Given the description of an element on the screen output the (x, y) to click on. 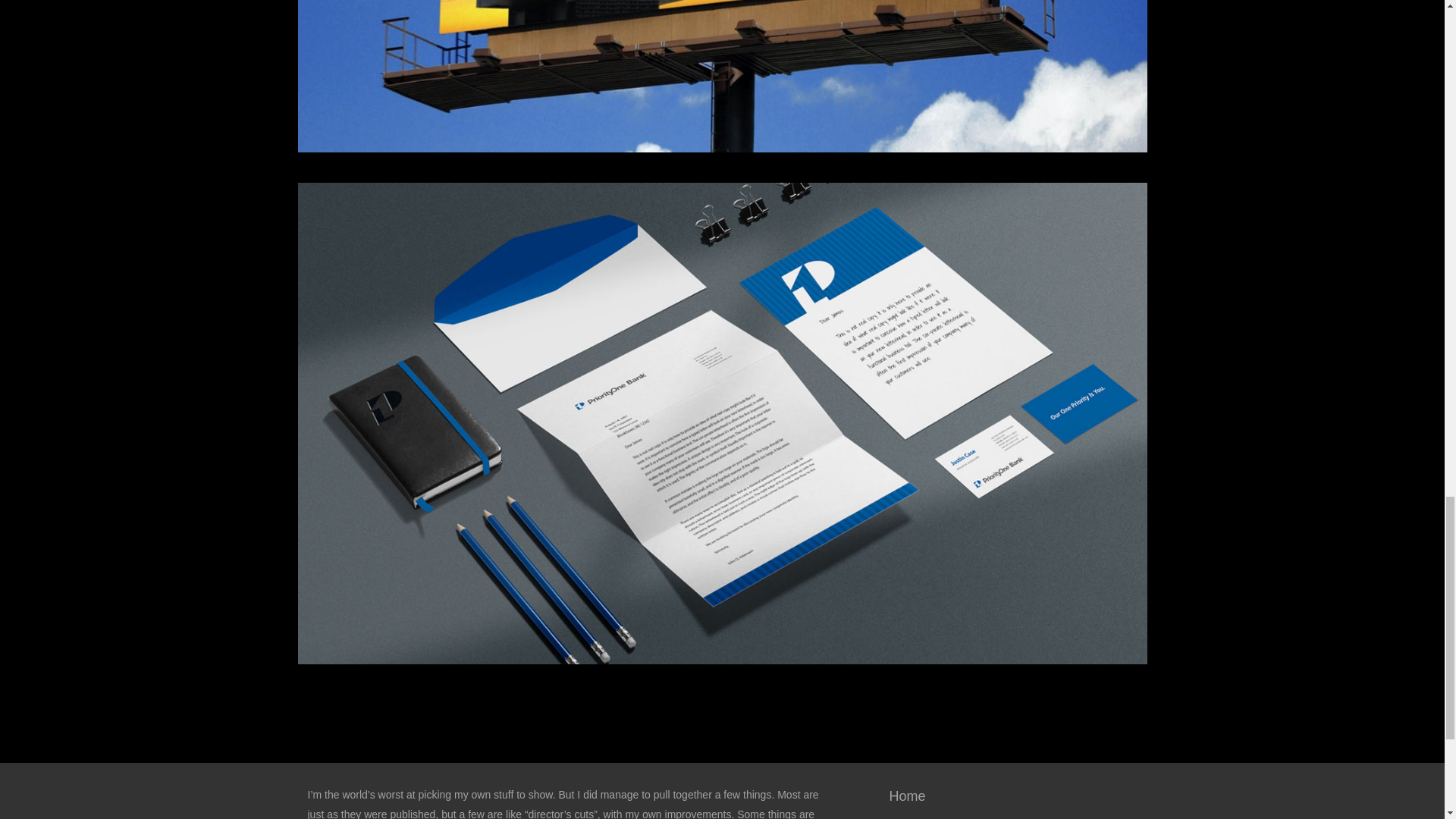
Home (1010, 796)
About (1010, 815)
